Given the description of an element on the screen output the (x, y) to click on. 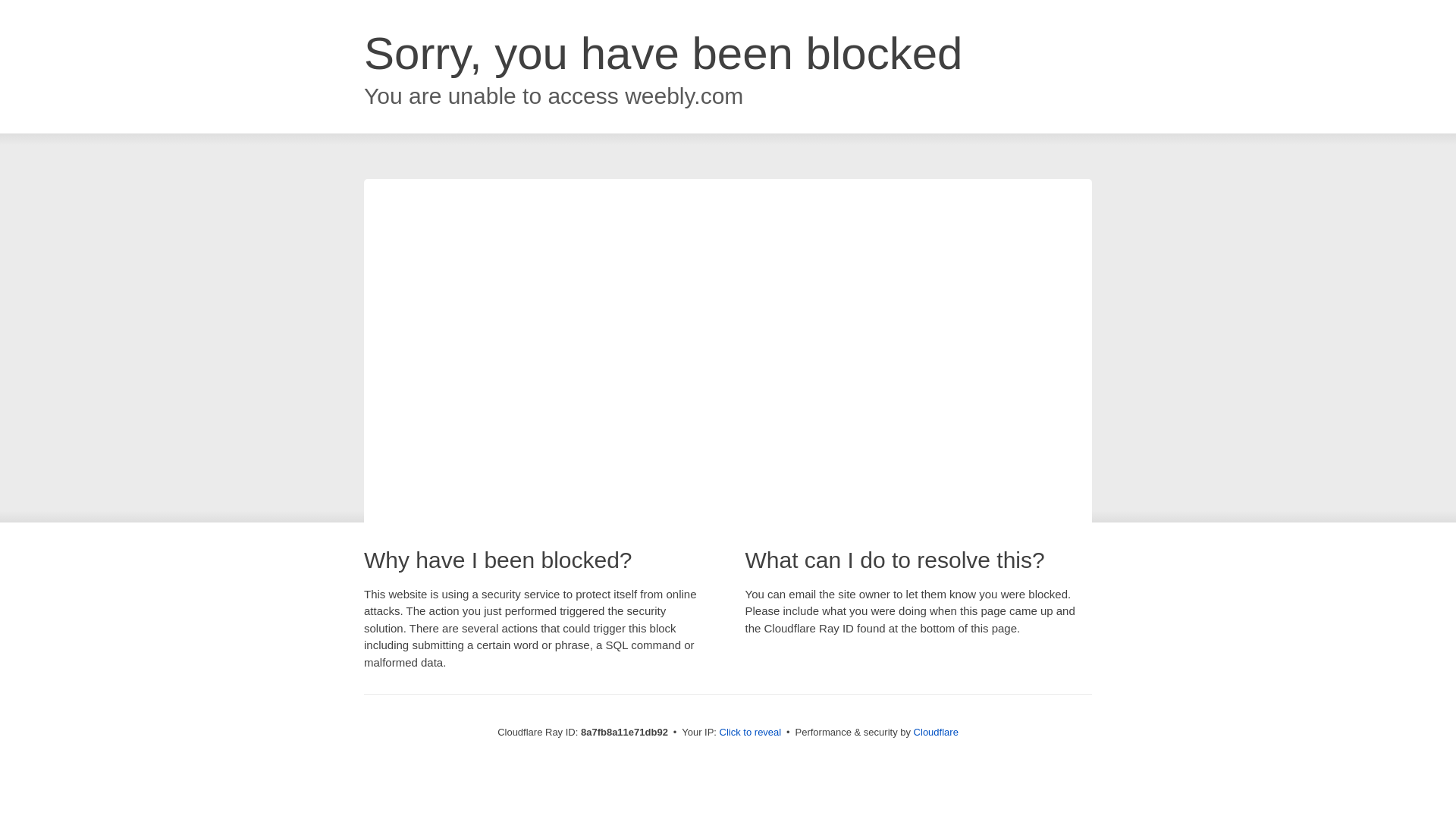
Cloudflare (936, 731)
Click to reveal (750, 732)
